Given the description of an element on the screen output the (x, y) to click on. 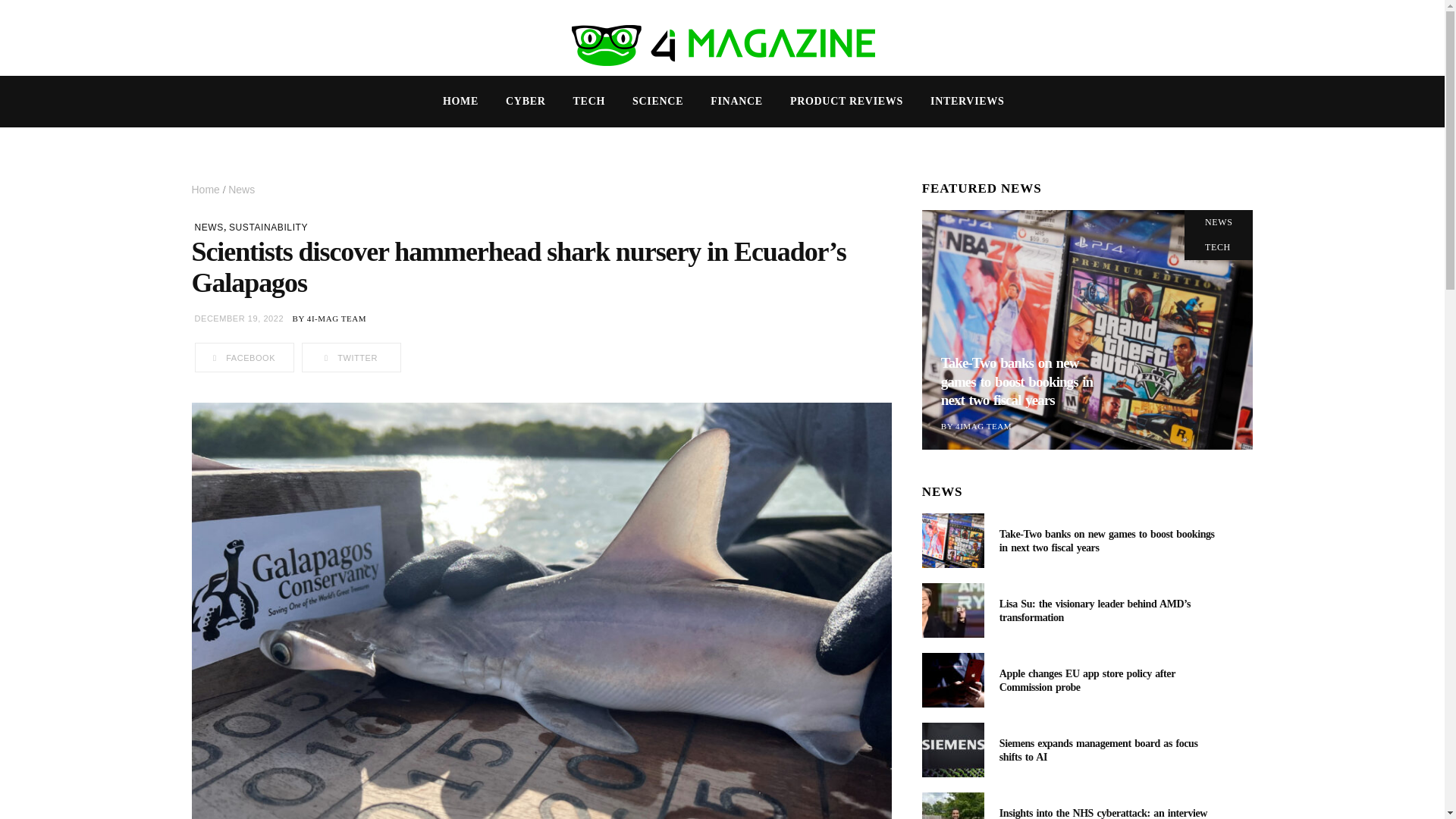
NEWS (207, 226)
INTERVIEWS (967, 101)
Apple changes EU app store policy after Commission probe (952, 679)
Siemens expands management board as focus shifts to AI (952, 749)
PRODUCT REVIEWS (846, 101)
DECEMBER 19, 2022 (238, 317)
Apple changes EU app store policy after Commission probe (1086, 680)
Home (206, 189)
